Given the description of an element on the screen output the (x, y) to click on. 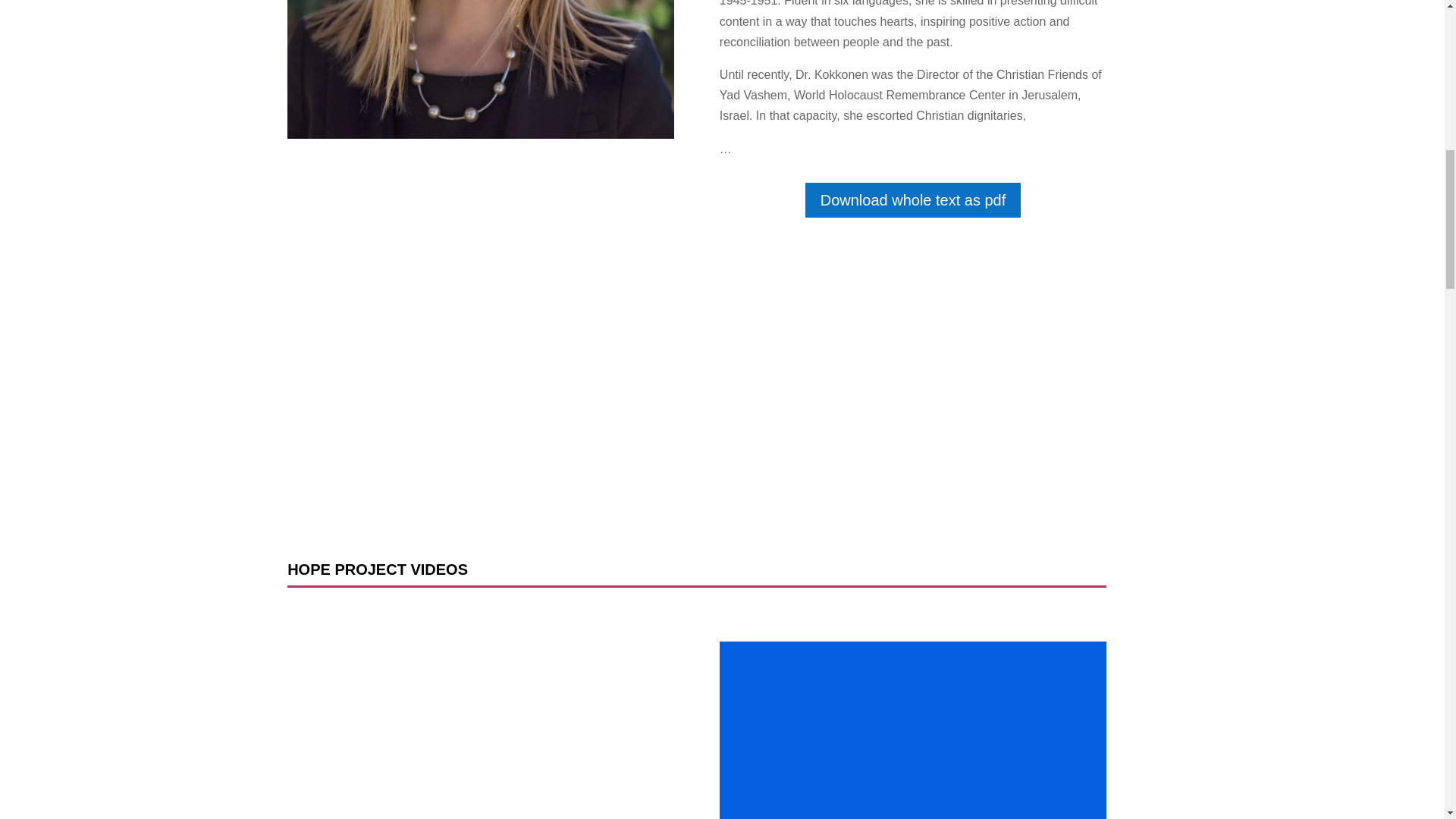
Download whole text as pdf (913, 199)
Susanna Kokkonen (480, 69)
tv7-jerusalem-studio (912, 730)
